Given the description of an element on the screen output the (x, y) to click on. 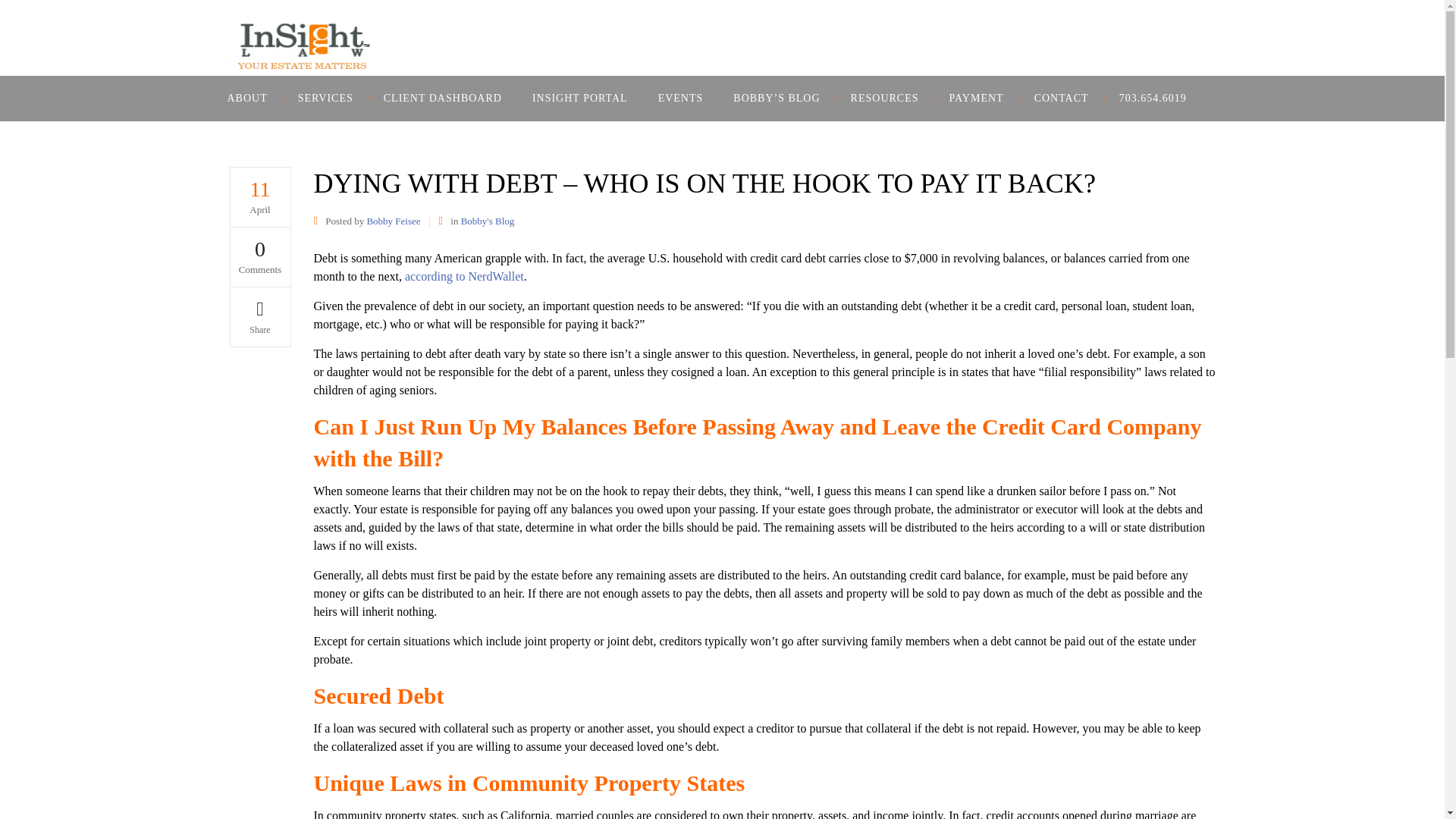
INSIGHT PORTAL (579, 98)
PAYMENT (976, 98)
RESOURCES (884, 98)
CONTACT (1061, 98)
ABOUT (254, 98)
EVENTS (681, 98)
703.654.6019 (1152, 98)
SERVICES (325, 98)
CLIENT DASHBOARD (442, 98)
